Given the description of an element on the screen output the (x, y) to click on. 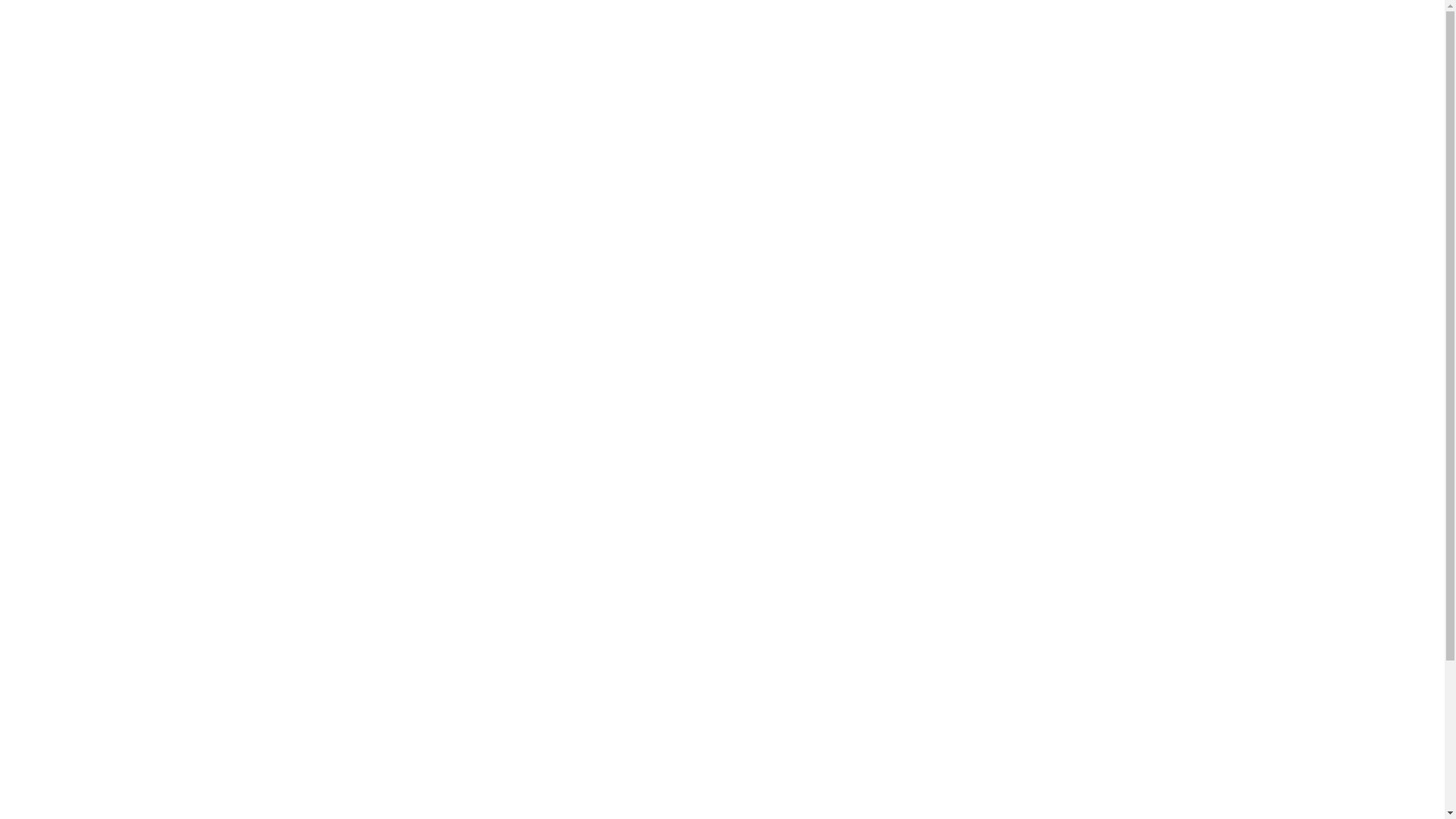
+37529 386-04-08 Element type: text (1075, 38)
@GALA_DESIGN.BY Element type: text (1079, 95)
GALINA SUKMANOVA Element type: text (1060, 65)
